Given the description of an element on the screen output the (x, y) to click on. 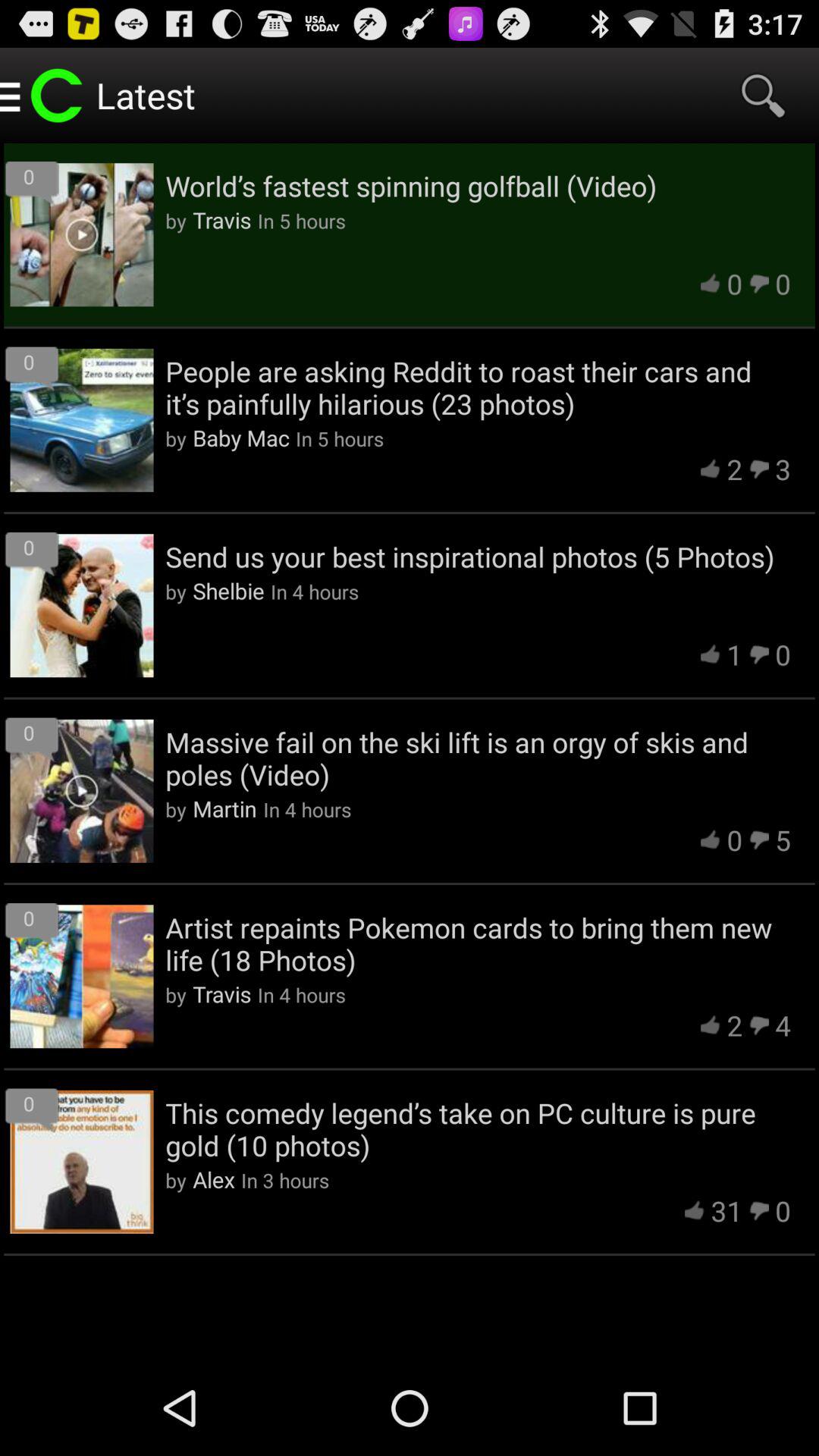
jump until 1 item (734, 654)
